Given the description of an element on the screen output the (x, y) to click on. 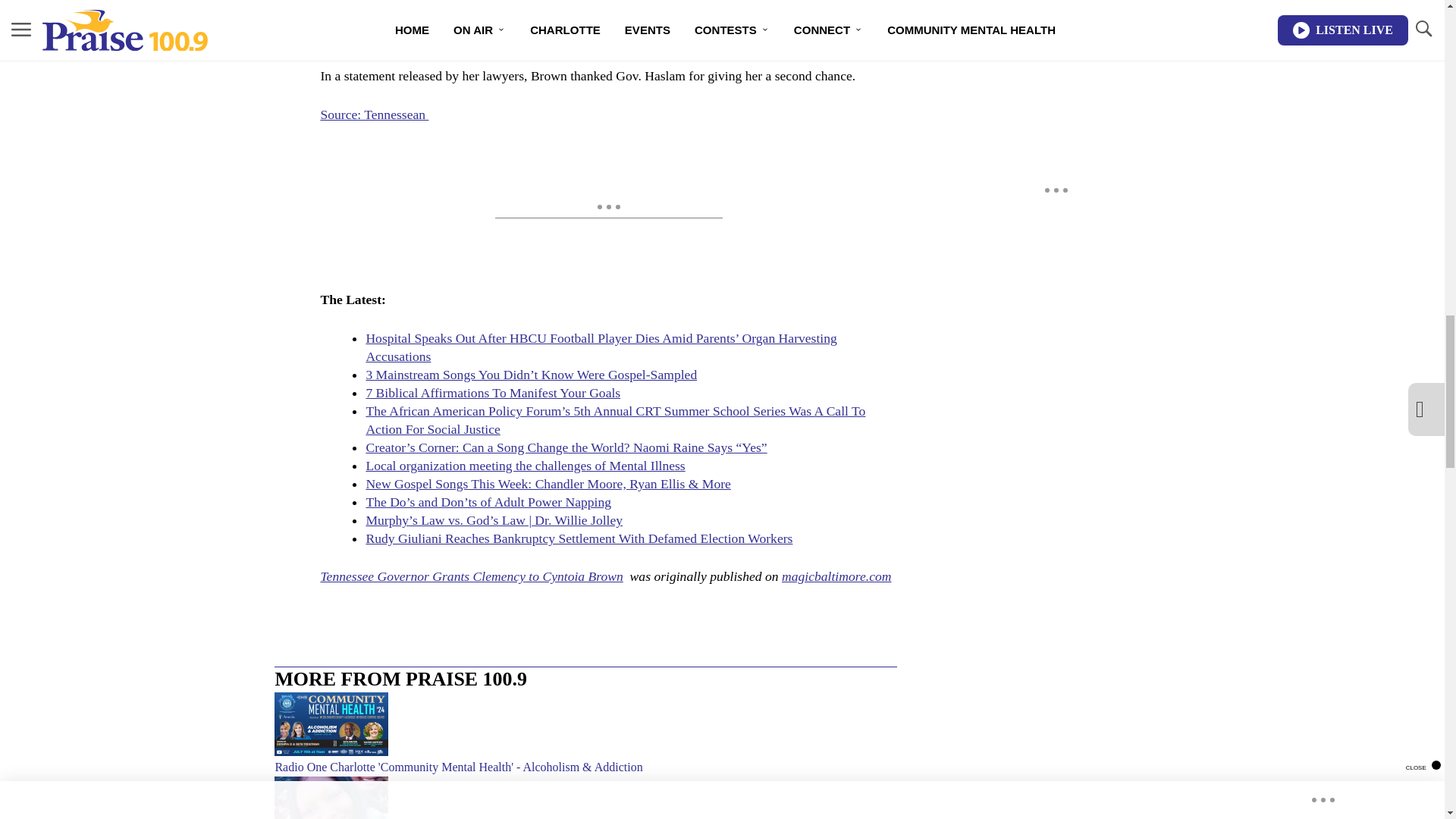
Close (339, 5)
Source: Tennessean  (374, 114)
7 Biblical Affirmations To Manifest Your Goals (492, 392)
Submit (341, 38)
